Given the description of an element on the screen output the (x, y) to click on. 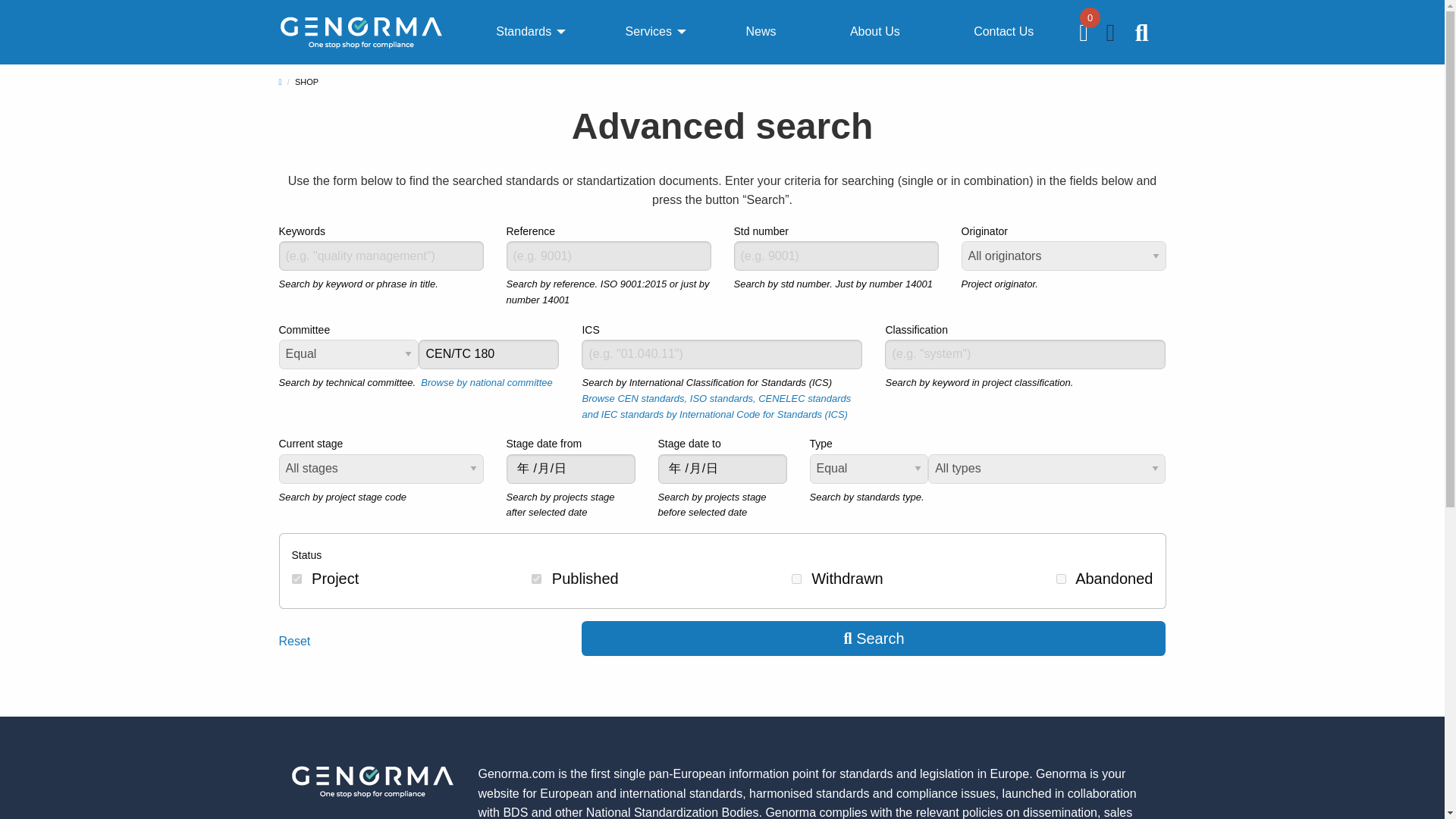
Search (873, 638)
ABANDON (1061, 578)
WITHDRAWN (797, 578)
About Us (874, 32)
My account (1112, 36)
News (759, 32)
Services (648, 32)
Browse by national committee (485, 382)
PUBLISHED (536, 578)
Standards (523, 32)
Reset (295, 640)
Contact Us (1003, 32)
